Given the description of an element on the screen output the (x, y) to click on. 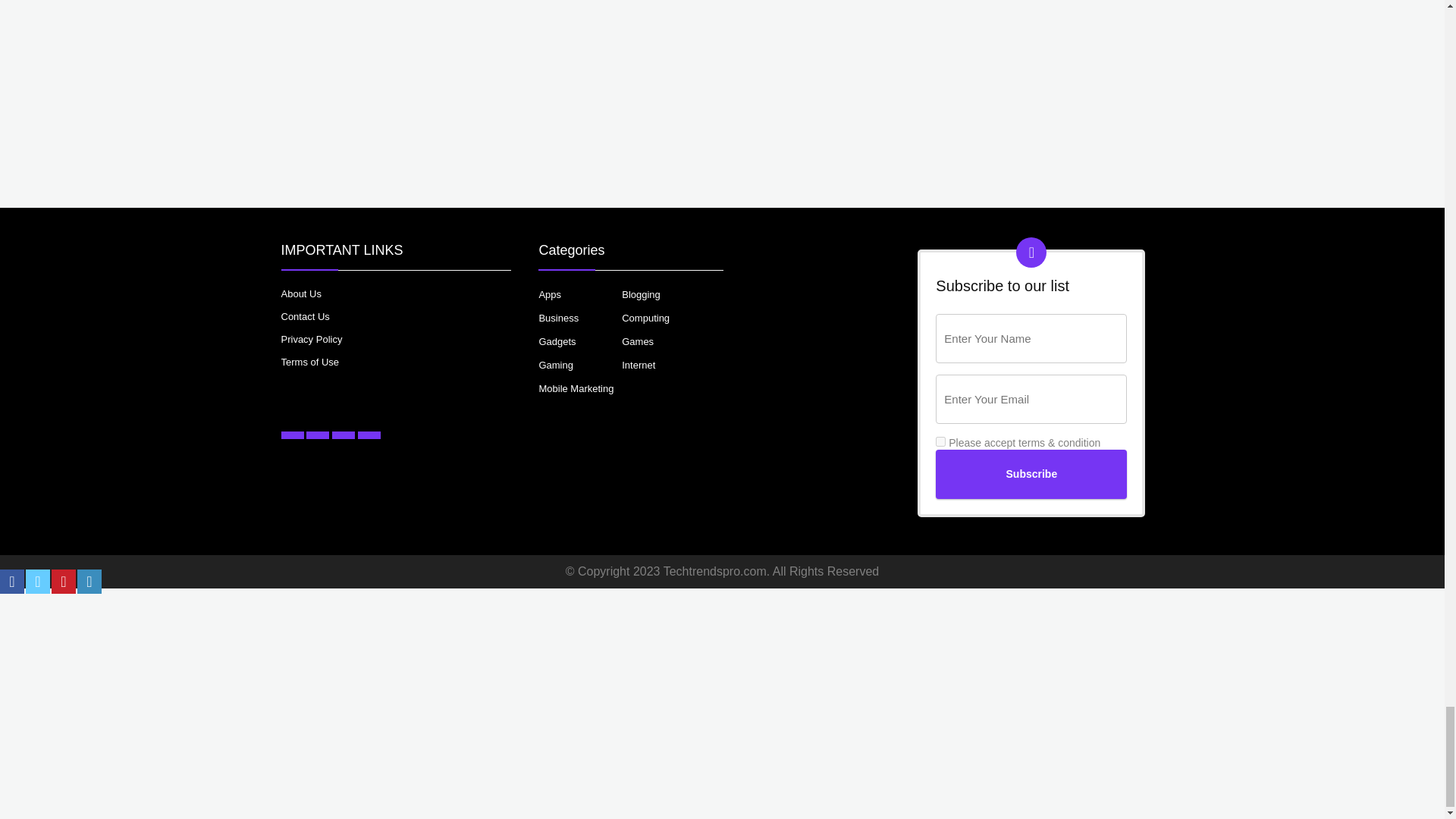
Subscribe (1031, 473)
true (940, 441)
